Given the description of an element on the screen output the (x, y) to click on. 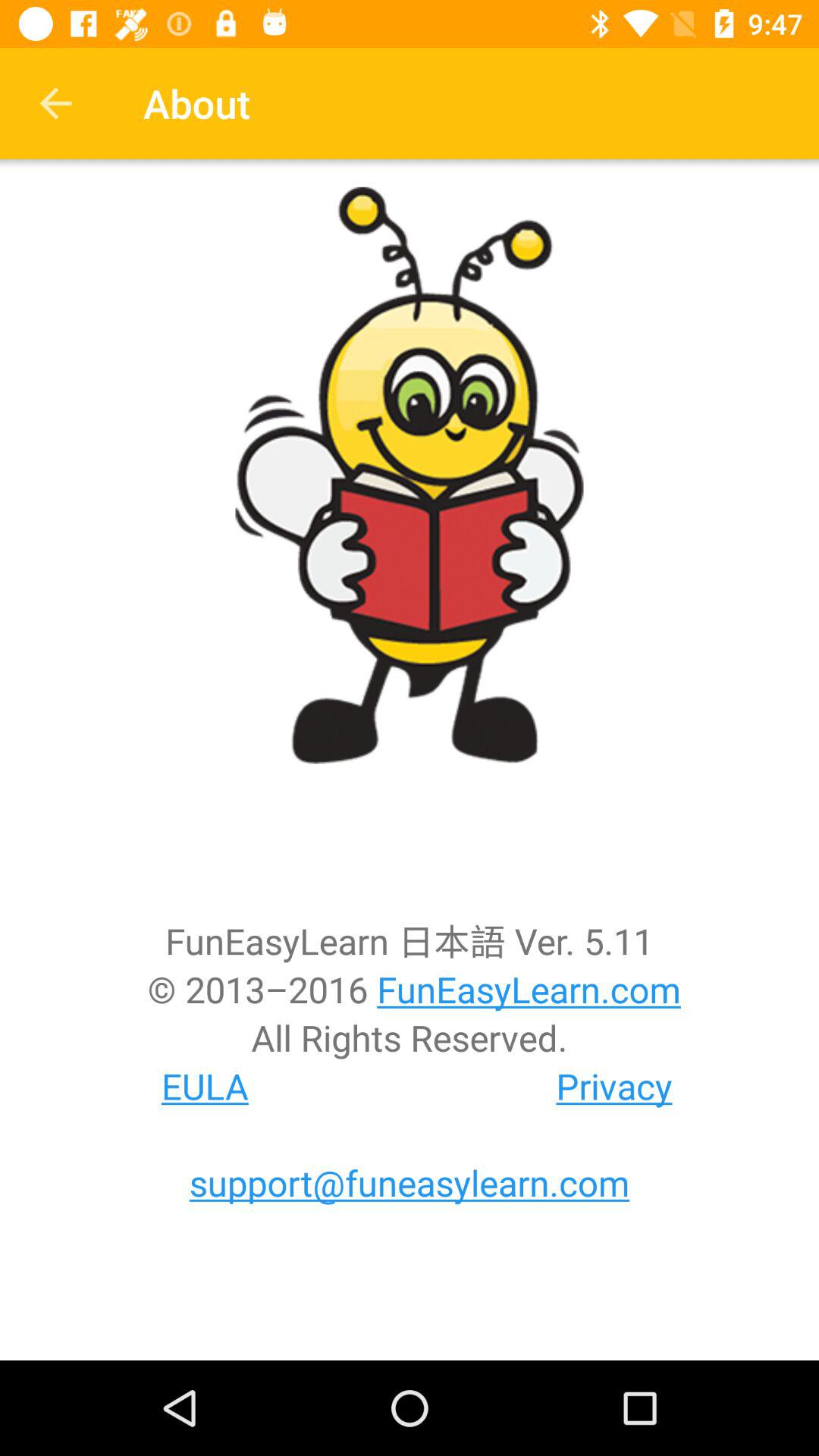
choose eula (204, 1085)
